Given the description of an element on the screen output the (x, y) to click on. 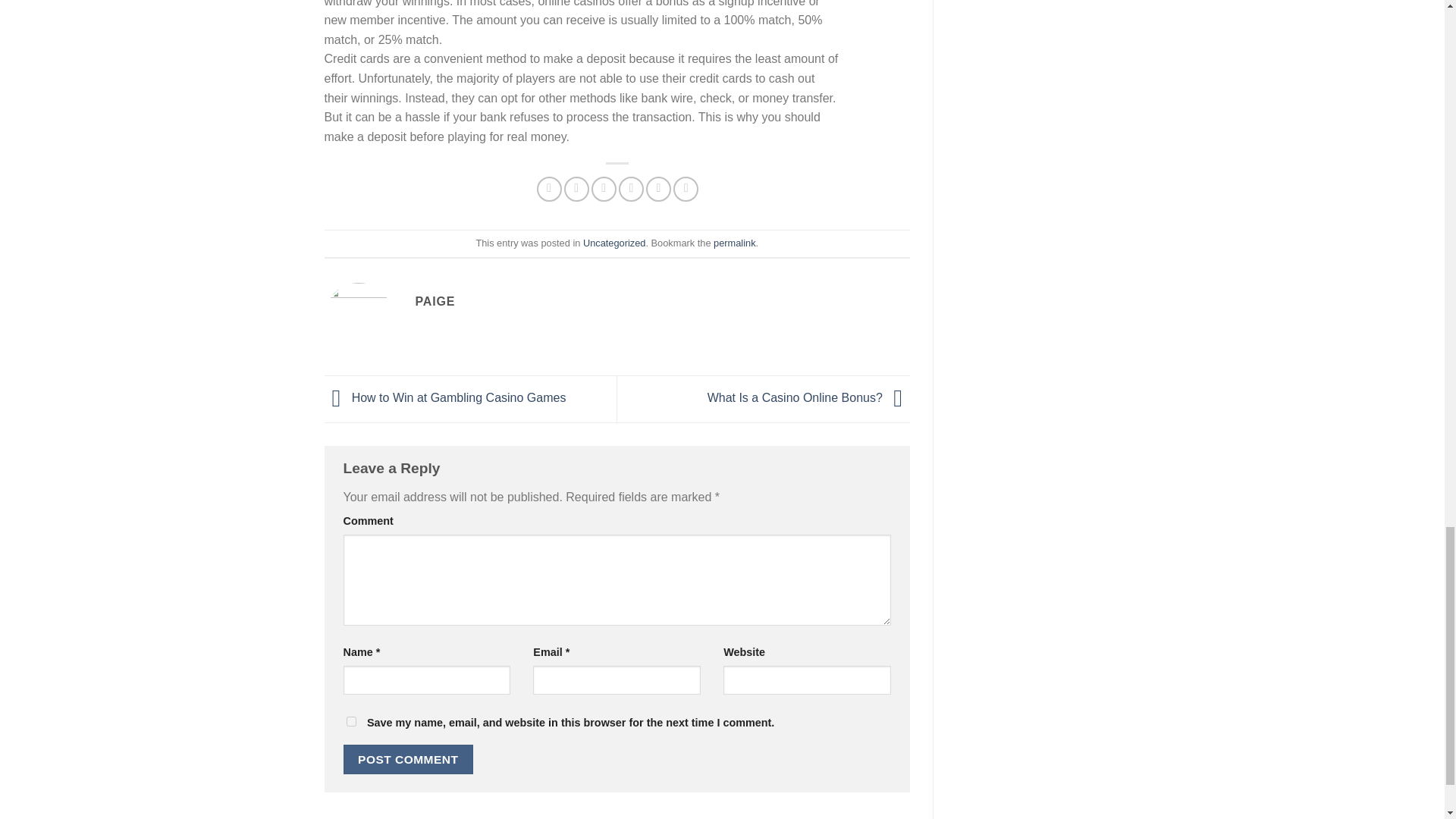
yes (350, 721)
Permalink to How to Register Casino Online (734, 242)
permalink (734, 242)
Uncategorized (614, 242)
What Is a Casino Online Bonus? (808, 397)
Post Comment (407, 758)
How to Win at Gambling Casino Games (445, 397)
Post Comment (407, 758)
